Given the description of an element on the screen output the (x, y) to click on. 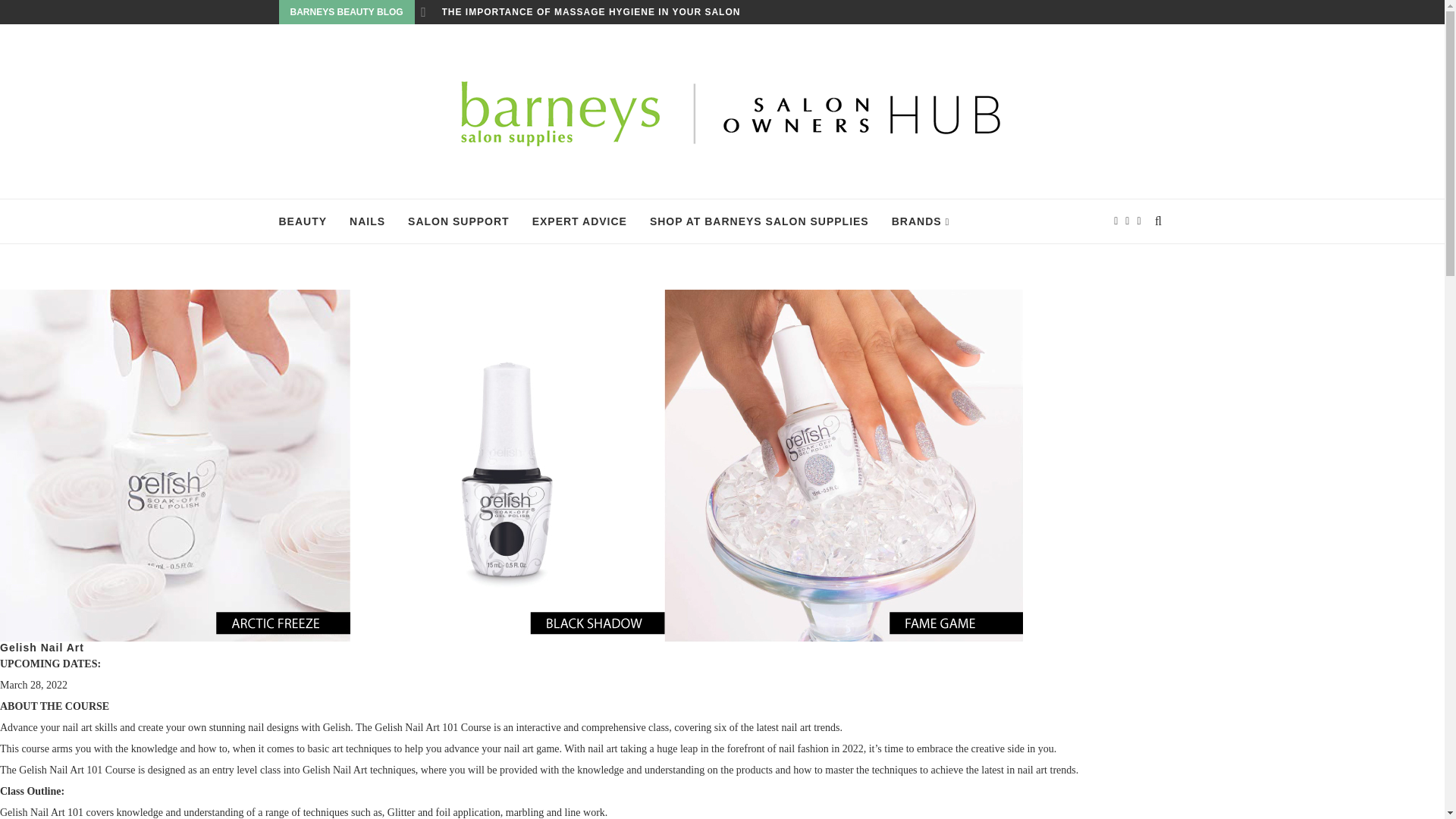
BEAUTY (303, 221)
EXPERT ADVICE (579, 221)
THE IMPORTANCE OF MASSAGE HYGIENE IN YOUR SALON (590, 12)
SALON SUPPORT (458, 221)
